Given the description of an element on the screen output the (x, y) to click on. 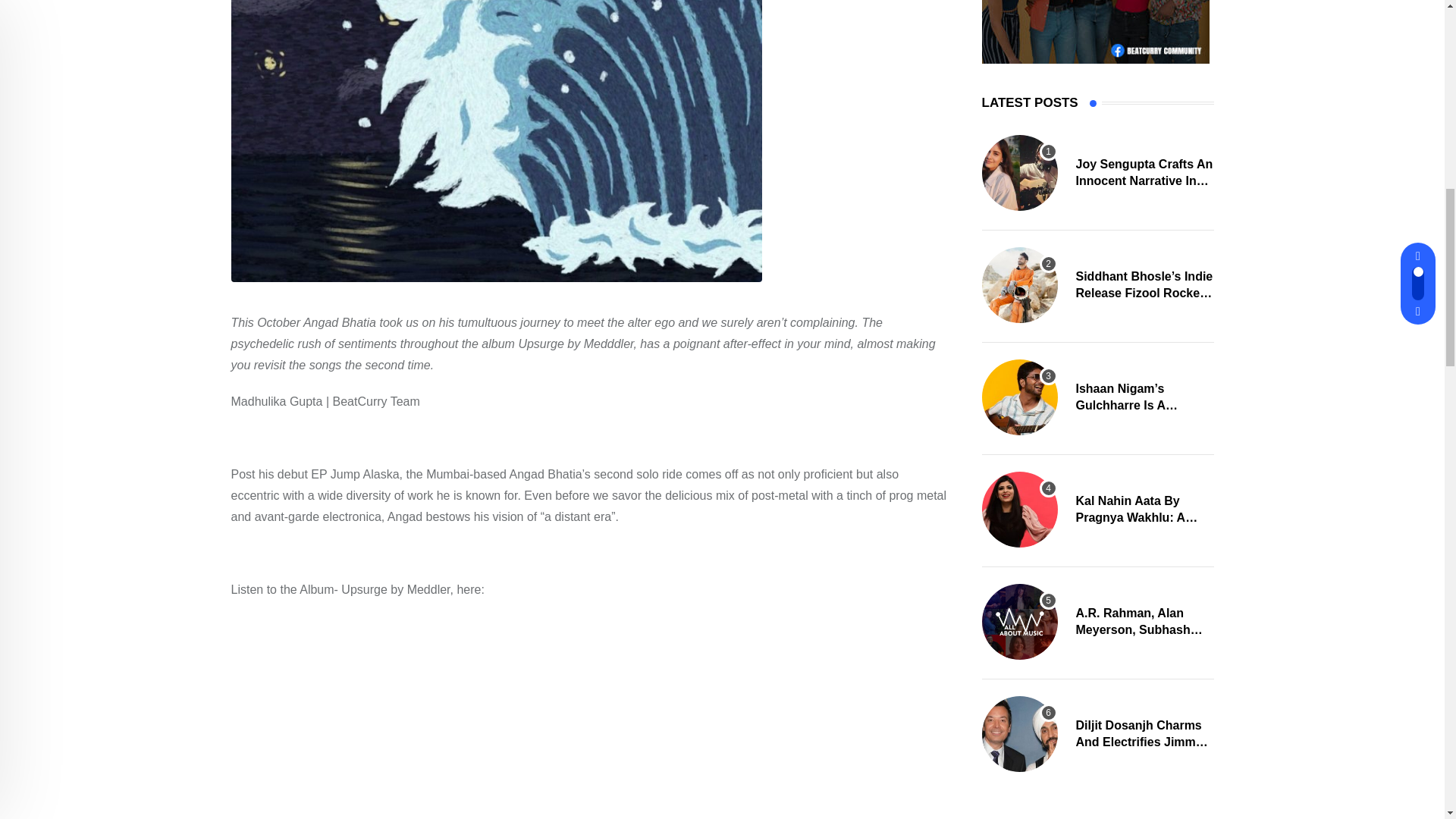
Kal Nahin Aata By Pragnya Wakhlu: A Folk-Fusion Delight (1019, 509)
YouTube video player (442, 717)
